Given the description of an element on the screen output the (x, y) to click on. 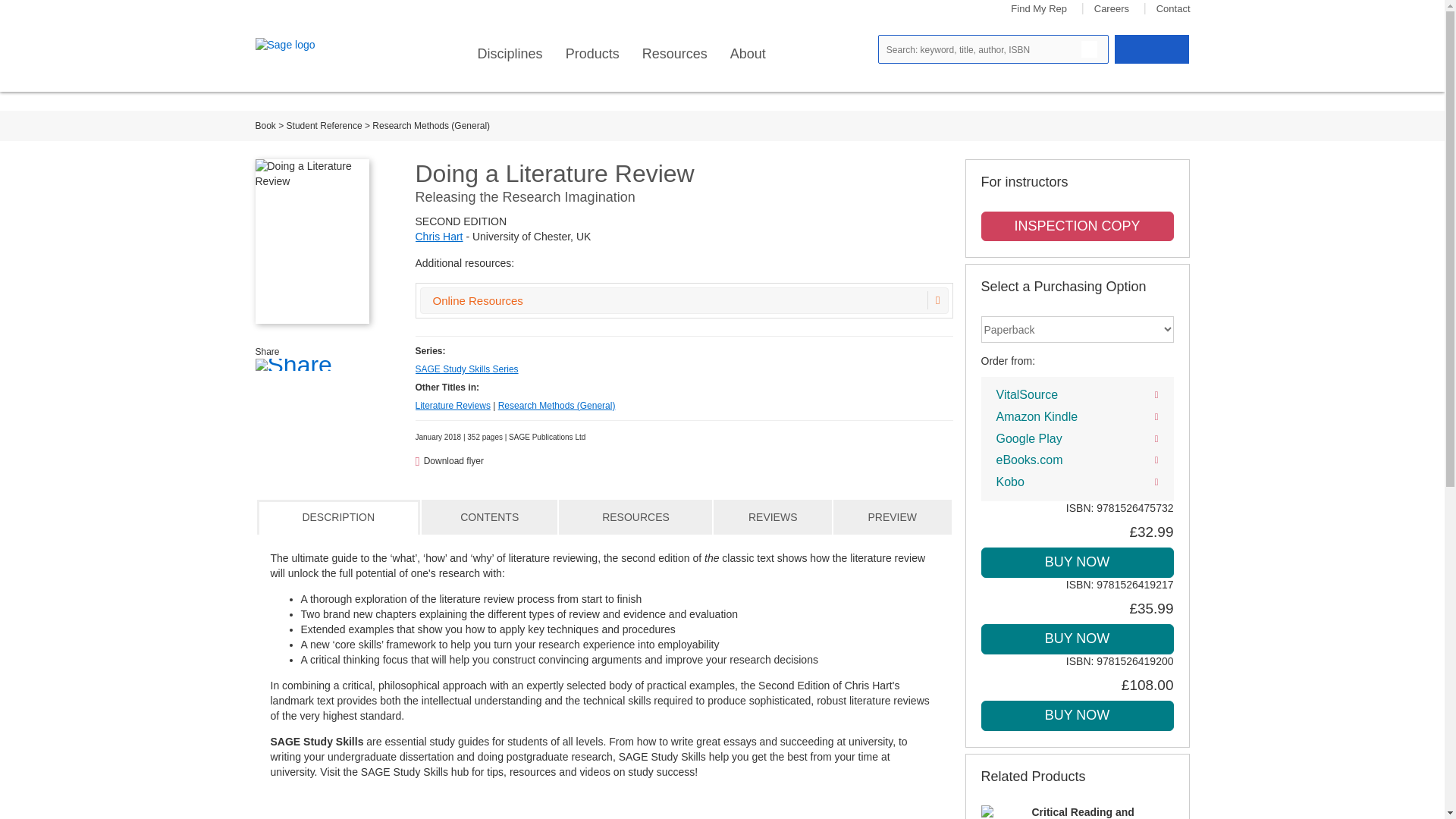
Sage logo: link back to homepage (309, 45)
Buy now (1077, 716)
Inspection Copy (1077, 226)
Search (1089, 48)
Contact (1173, 8)
Careers (1111, 8)
Disciplines (509, 53)
Buy now (1077, 639)
Find My Rep (1038, 8)
Buy now (1077, 562)
